Given the description of an element on the screen output the (x, y) to click on. 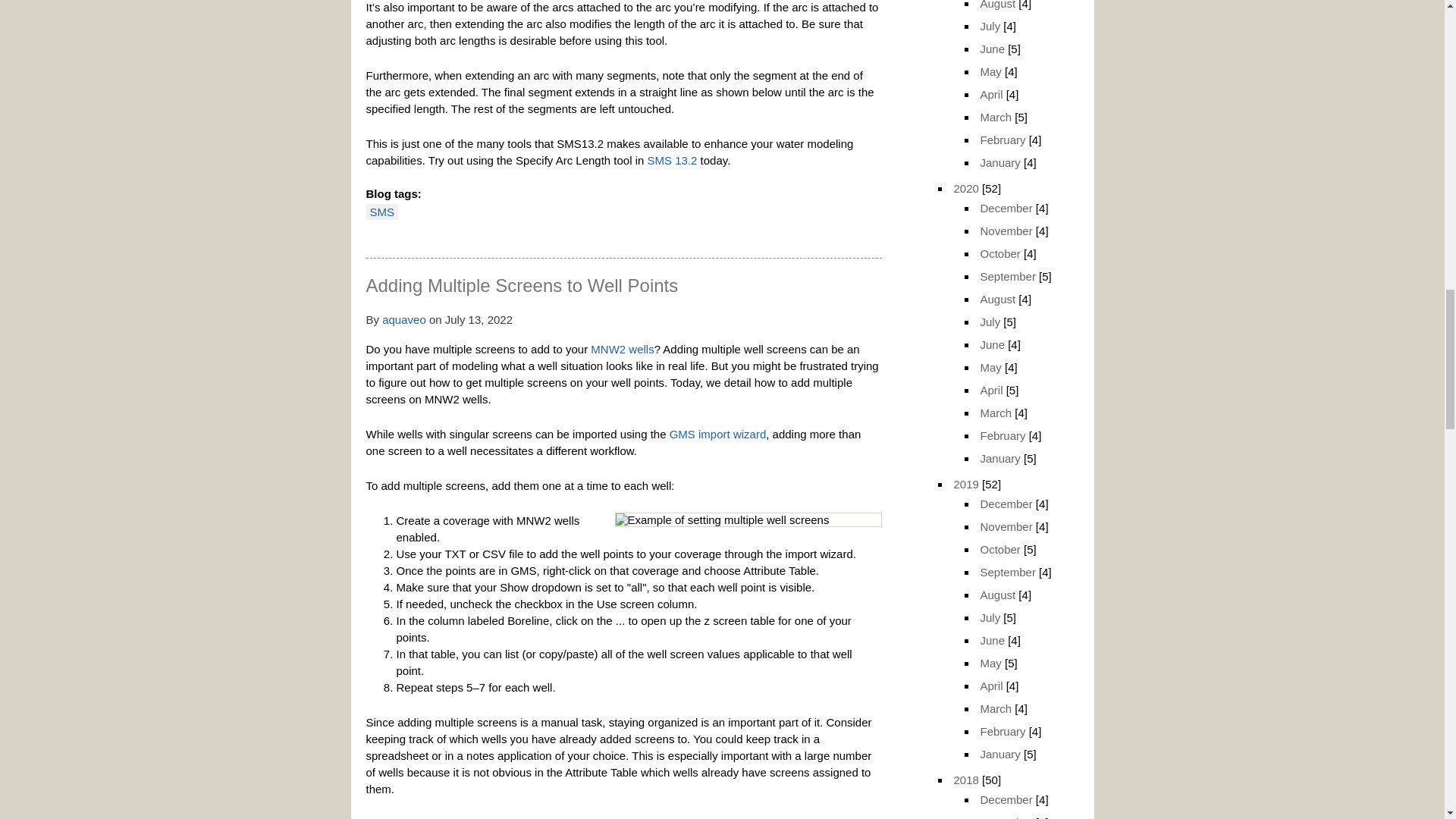
View user profile. (403, 318)
SMS 13.2 (672, 160)
MNW2 wells (622, 349)
aquaveo (403, 318)
GMS import wizard (718, 433)
Adding Multiple Screens to Well Points (521, 285)
SMS (381, 211)
